Given the description of an element on the screen output the (x, y) to click on. 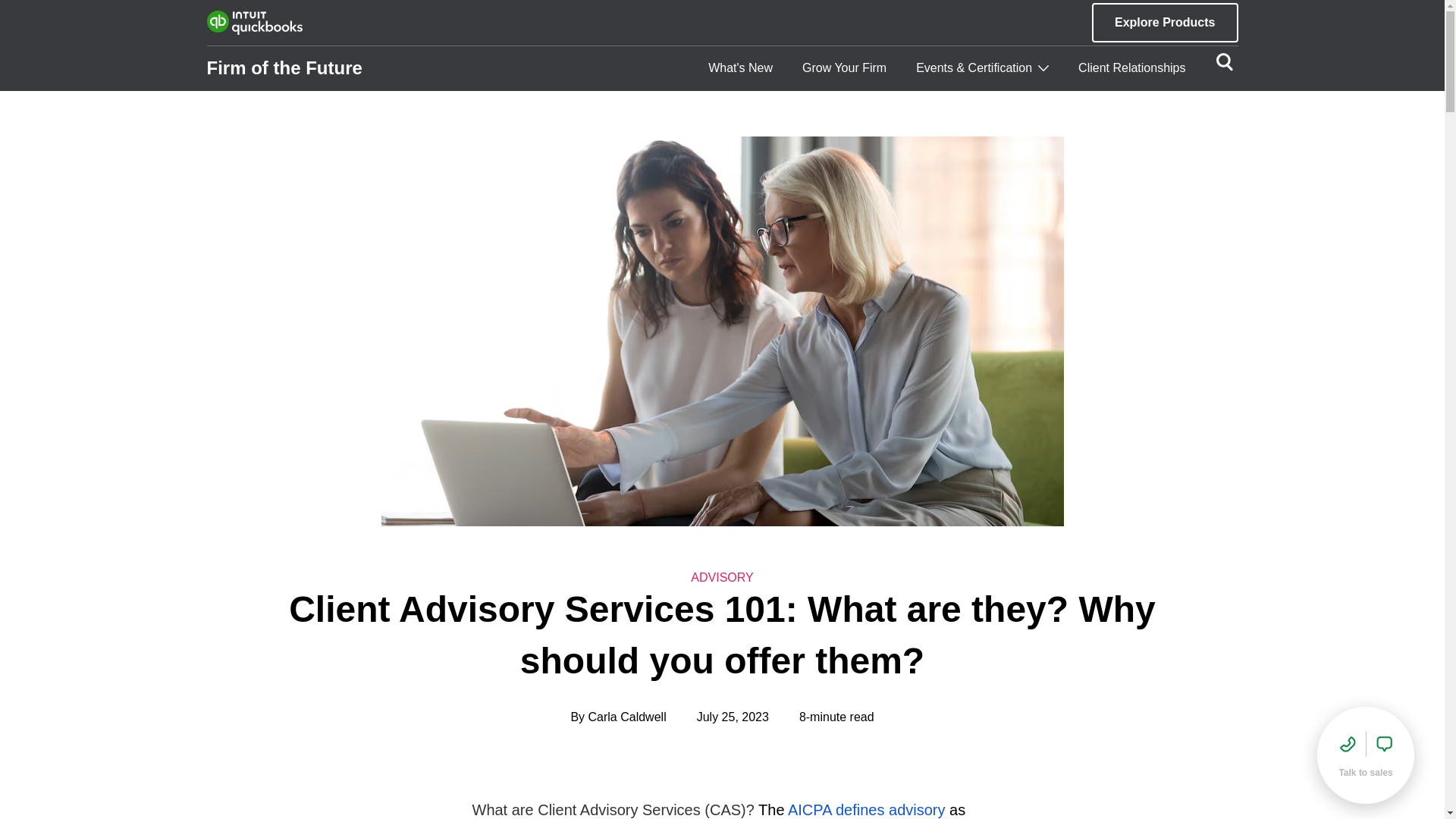
ADVISORY (721, 577)
Explore Products (1164, 22)
Carla Caldwell (627, 717)
What's New (740, 67)
Grow Your Firm (844, 67)
Firm of the Future (283, 67)
Client Relationships (1131, 67)
AICPA defines advisory (865, 809)
